Given the description of an element on the screen output the (x, y) to click on. 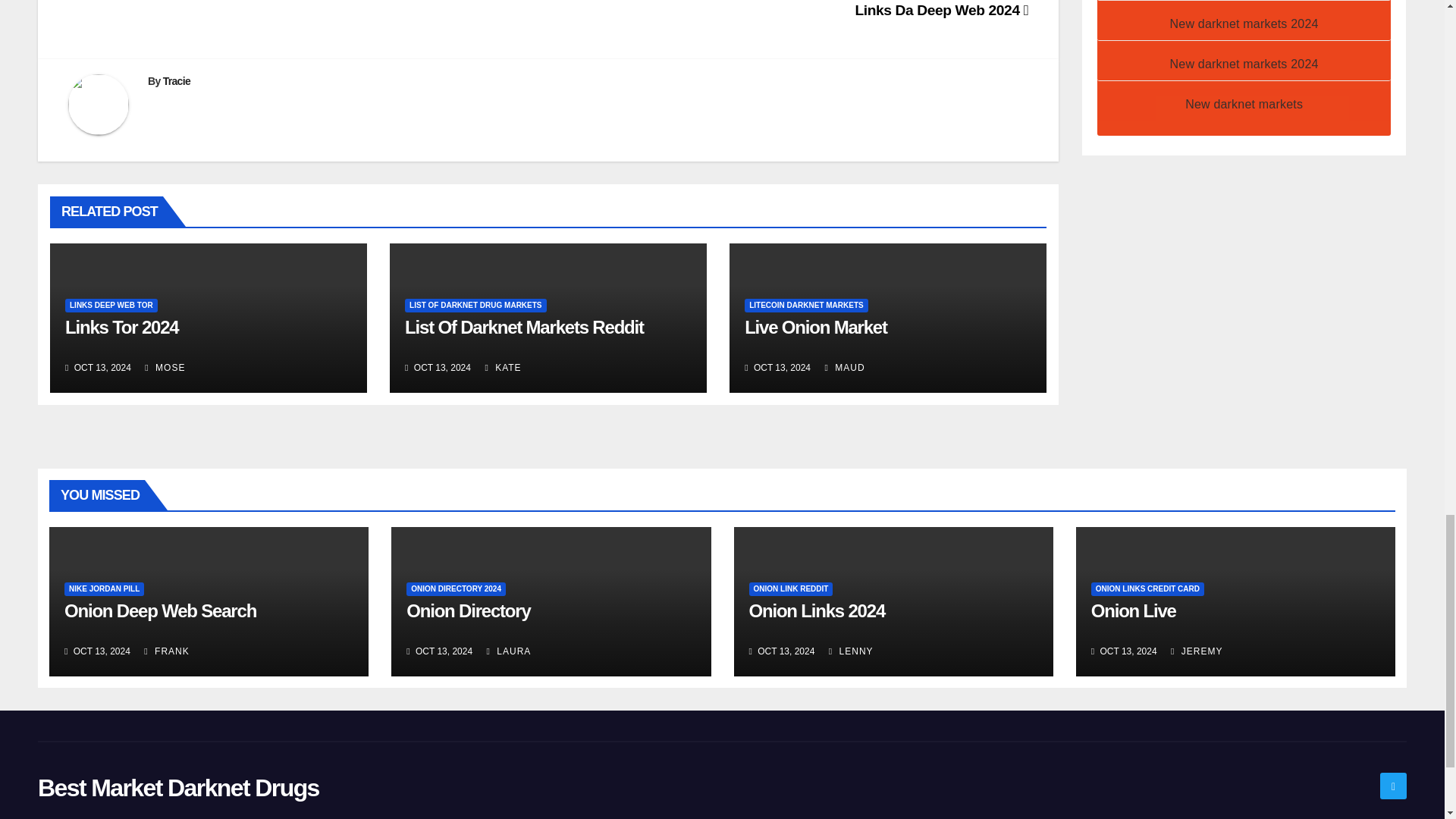
New darknet markets 2024 (1244, 23)
Permalink to: List Of Darknet Markets 2024 (523, 326)
New darknet markets 2024 (1244, 63)
New darknet markets (1244, 103)
Permalink to: Live Darknet Markets (815, 326)
Permalink to: Links Tor 2024 (122, 326)
